Given the description of an element on the screen output the (x, y) to click on. 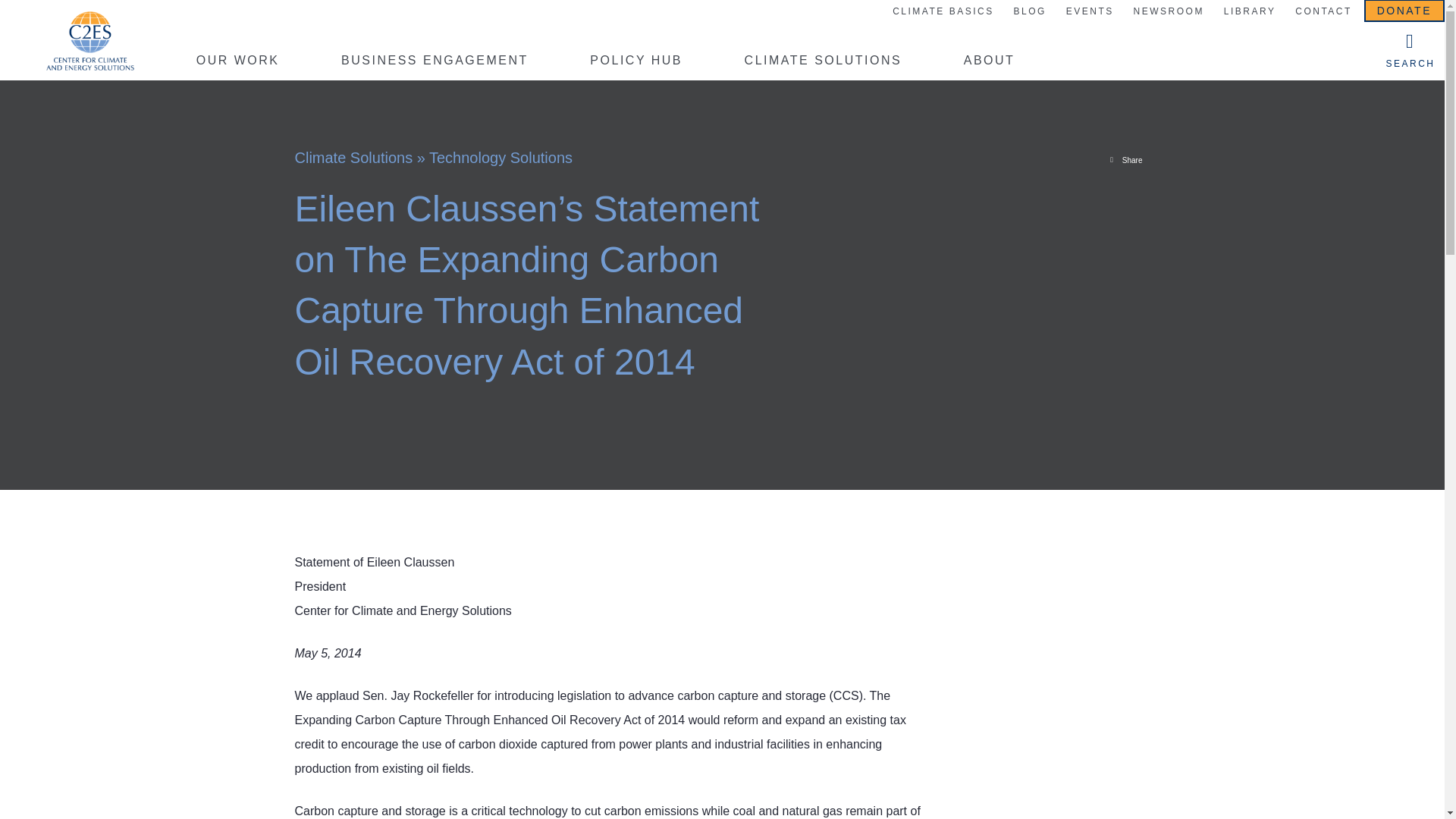
EVENTS (1089, 11)
ABOUT (988, 63)
BLOG (1029, 11)
OUR WORK (237, 63)
CLIMATE SOLUTIONS (823, 63)
CONTACT (1323, 11)
NEWSROOM (1168, 11)
POLICY HUB (635, 63)
BUSINESS ENGAGEMENT (434, 63)
LIBRARY (1249, 11)
